Given the description of an element on the screen output the (x, y) to click on. 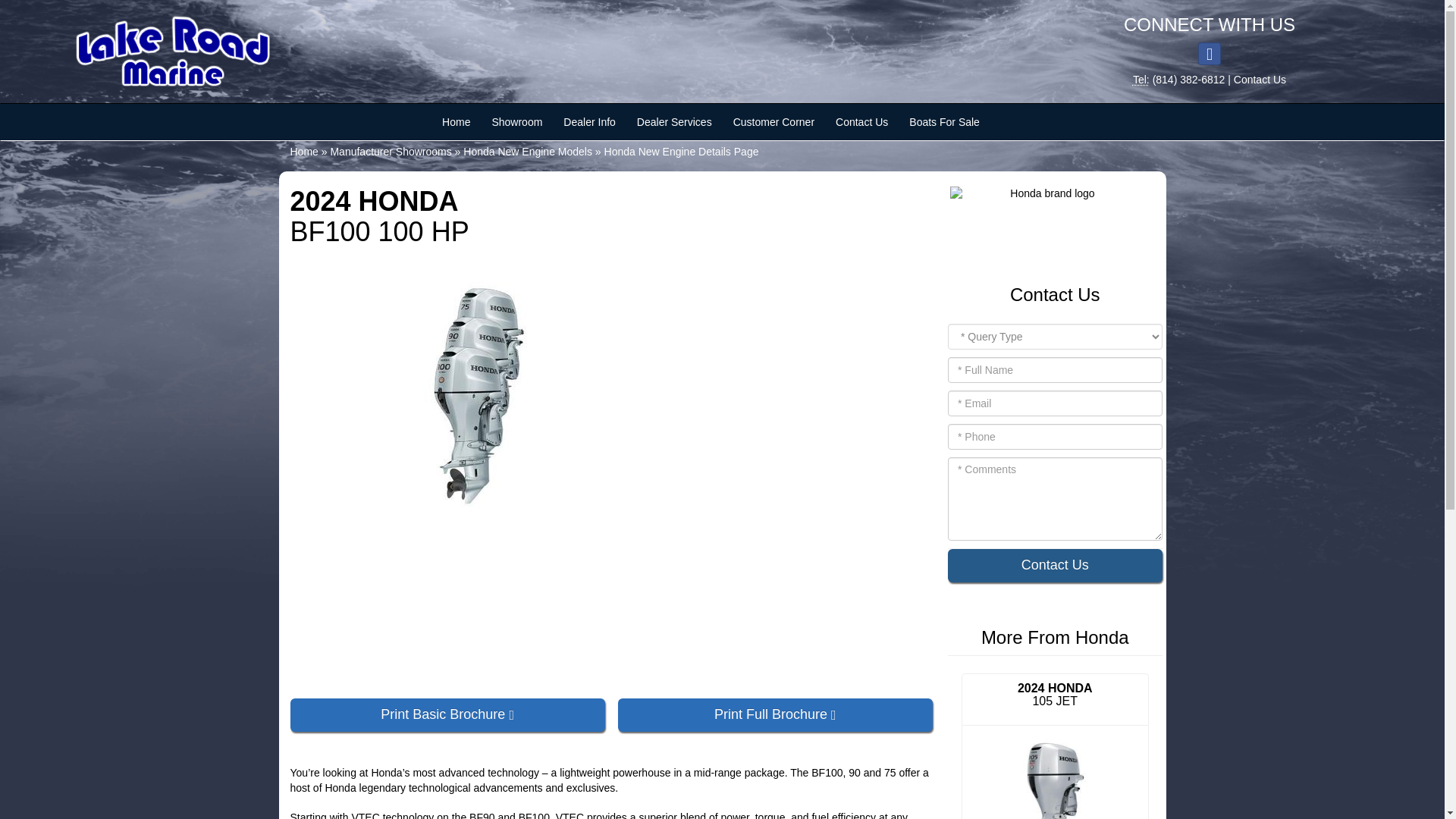
Manufacturer Showrooms (390, 151)
Phone (1141, 79)
Showroom (516, 122)
Dealer Info (589, 122)
Contact Us (861, 122)
Dealer Info (589, 122)
Dealer Services (674, 122)
Home (303, 151)
Customer Corner (773, 122)
Showroom (516, 122)
Boats For Sale (944, 122)
Honda New Engine Models (527, 151)
Customer Corner (773, 122)
Print Full Brochure (775, 715)
Contact Us (1259, 79)
